Given the description of an element on the screen output the (x, y) to click on. 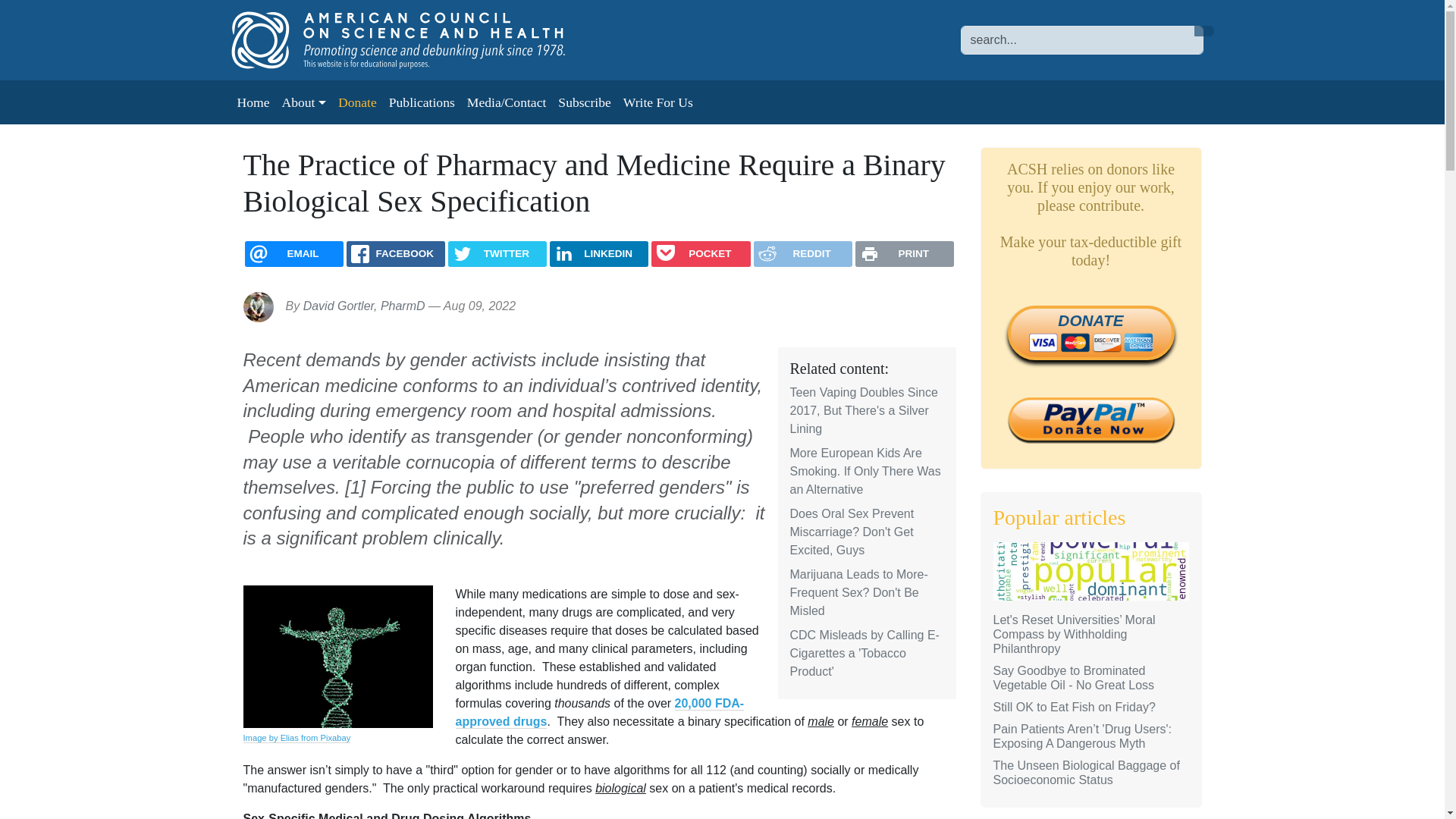
REDDIT (802, 253)
Skip to main content (60, 10)
Donate (356, 101)
Teen Vaping Doubles Since 2017, But There's a Silver Lining (863, 409)
20,000 FDA-approved drugs (599, 712)
Home (413, 39)
Home (252, 101)
TWITTER (497, 253)
Marijuana Leads to More-Frequent Sex? Don't Be Misled (859, 592)
Publications (421, 101)
PRINT (904, 253)
David Gortler, PharmD (363, 305)
Image by Elias from Pixabay (296, 737)
search (1202, 30)
Does Oral Sex Prevent Miscarriage? Don't Get Excited, Guys (852, 531)
